Given the description of an element on the screen output the (x, y) to click on. 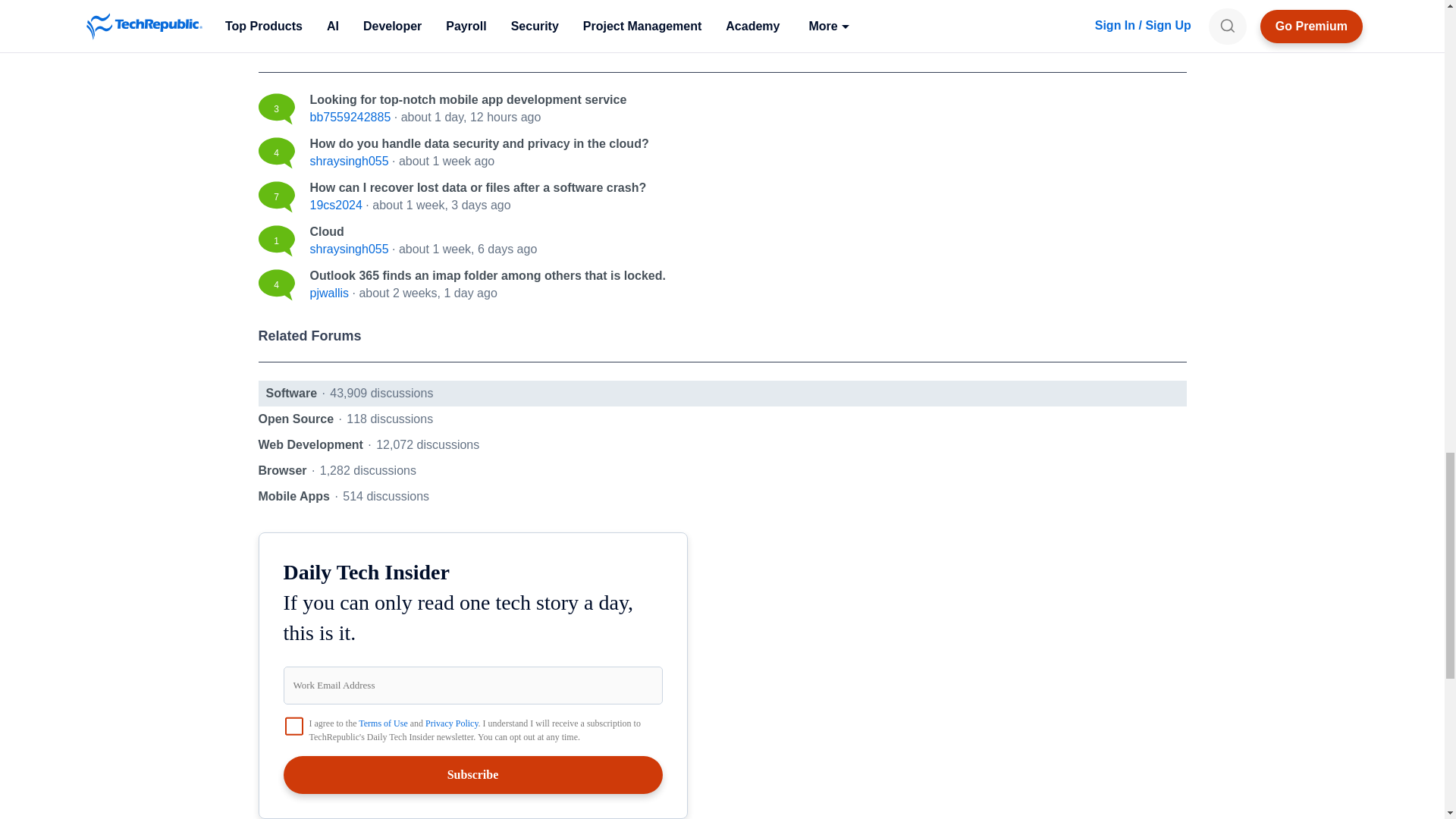
on (293, 726)
View shraysingh055's profile (348, 248)
View pjwallis's profile (328, 292)
View bb7559242885's profile (349, 116)
View shraysingh055's profile (348, 160)
View 19cs2024's profile (334, 205)
